Given the description of an element on the screen output the (x, y) to click on. 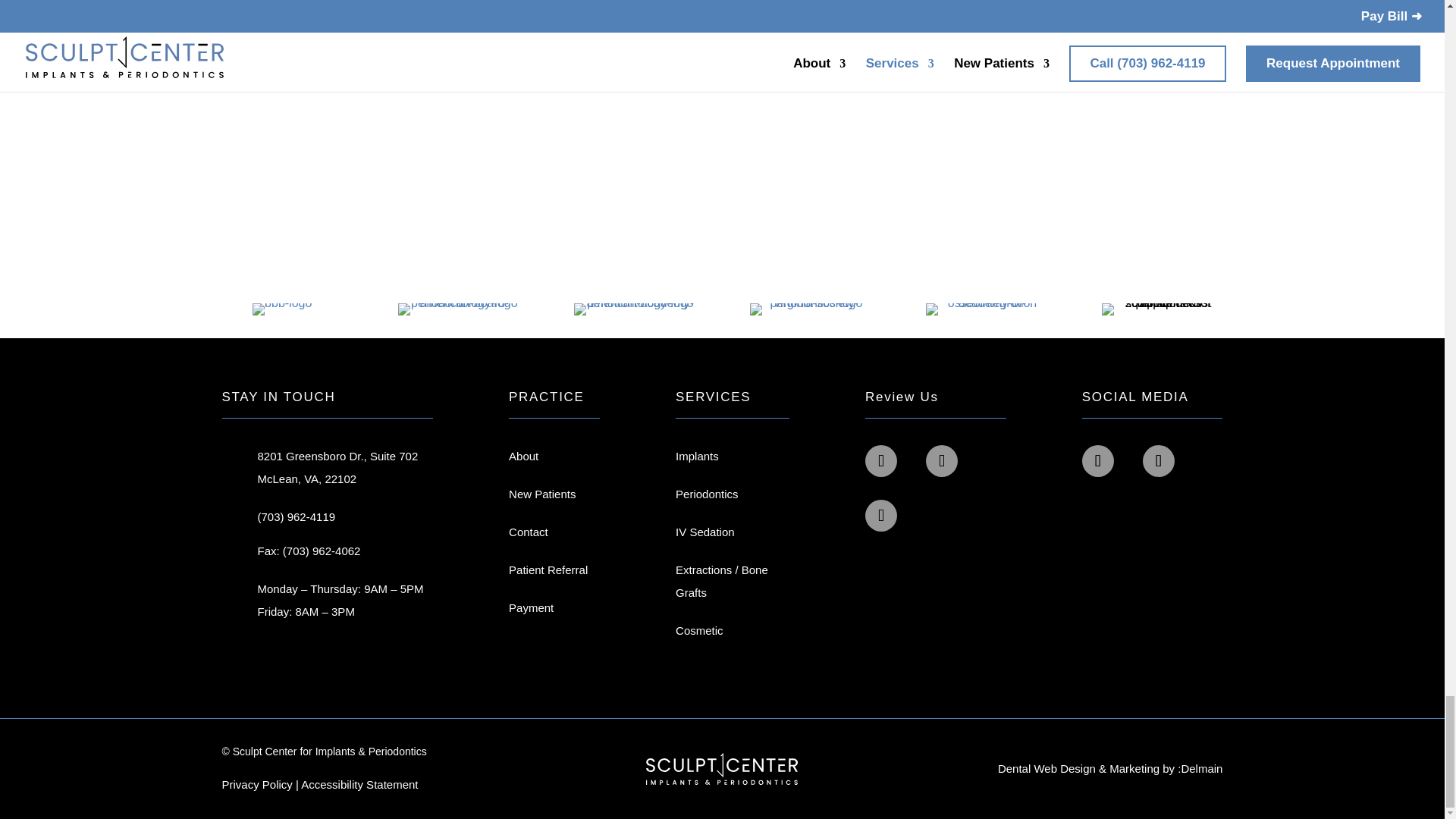
virginia-society-periodontics-logo (809, 309)
Follow on Facebook (1158, 460)
american-academy-periodontology-logo (633, 309)
2023 top dentist (1162, 309)
american-board-periodontology-logo (457, 309)
bbb-logo (281, 309)
Follow on Google (880, 460)
academy-of-osseointegration (986, 309)
Follow on Instagram (1097, 460)
Follow on Facebook (880, 515)
Follow on Yelp (942, 460)
